Given the description of an element on the screen output the (x, y) to click on. 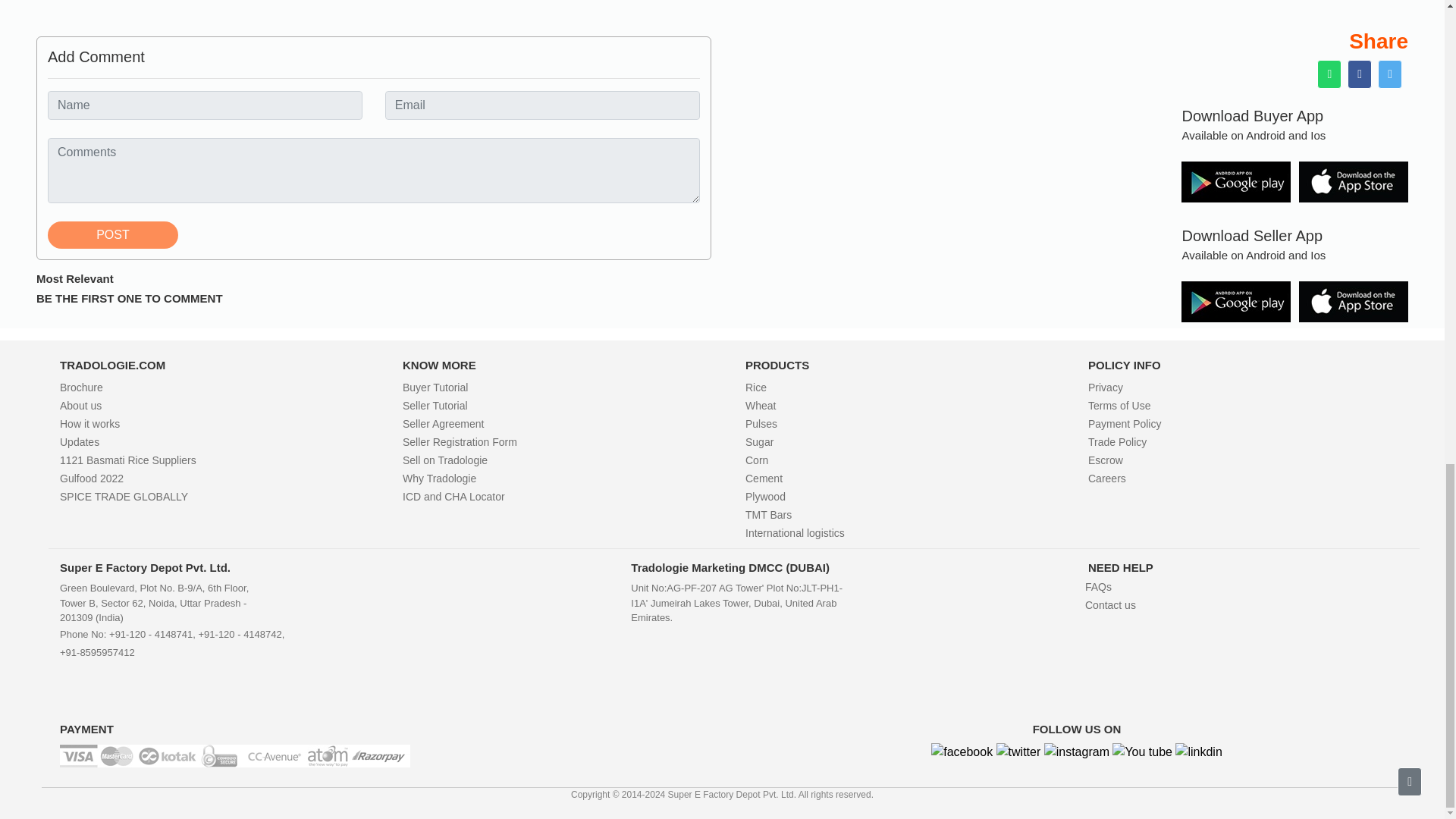
Brochure (81, 387)
Facebook (961, 751)
How it works (89, 423)
Updates (79, 441)
YouTube (1142, 751)
Linkdin (1197, 751)
About us (80, 405)
instagram (1076, 751)
POST (112, 234)
Twitter (1018, 751)
